Given the description of an element on the screen output the (x, y) to click on. 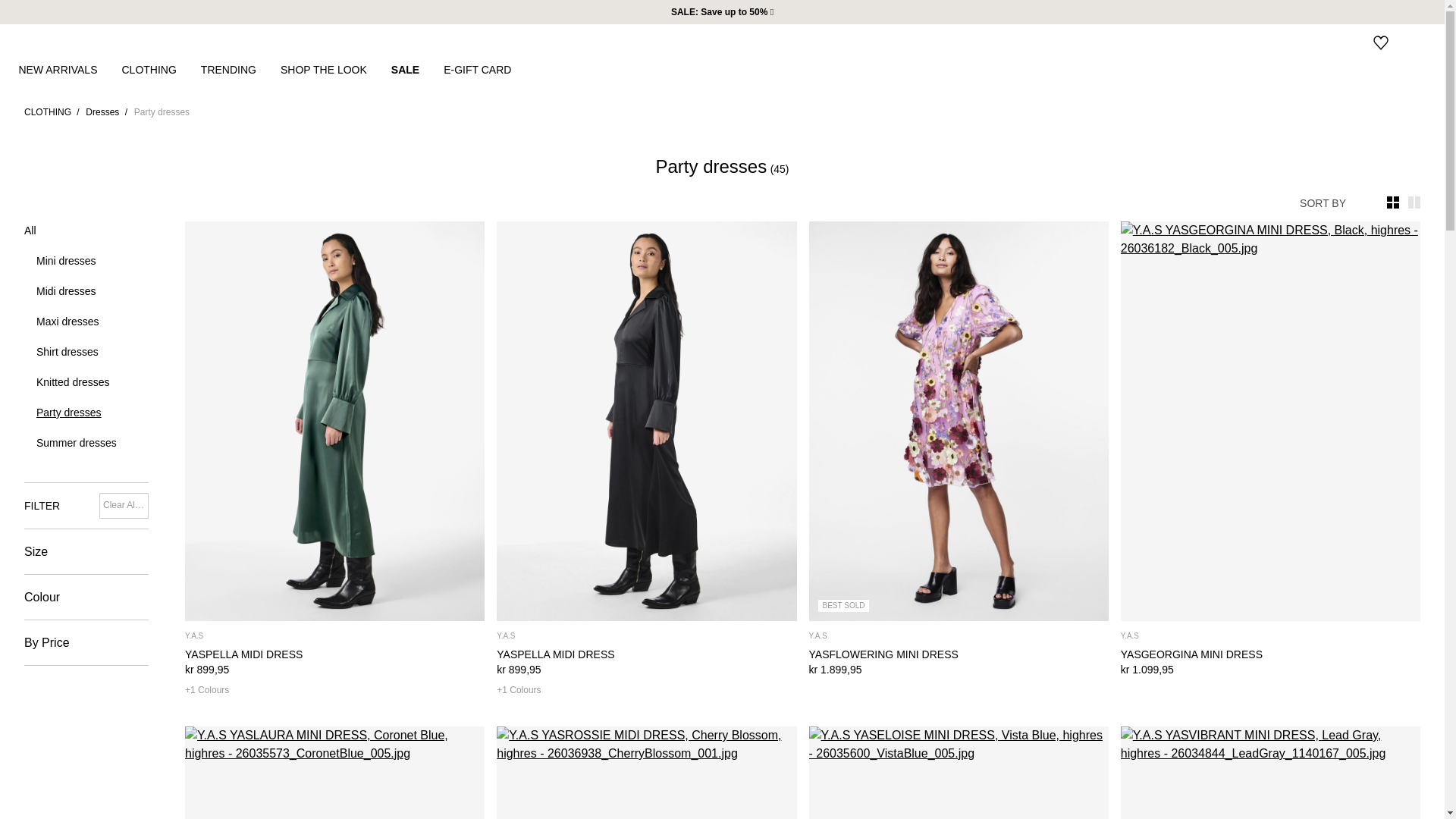
E-GIFT CARD (489, 69)
NEW ARRIVALS (68, 69)
Search (1319, 42)
Return to Home Page (46, 42)
Sign in (1350, 42)
CLOTHING (160, 69)
SALE (417, 69)
Bag (1409, 42)
SHOP THE LOOK (336, 69)
TRENDING (240, 69)
Wishlist (1379, 42)
